Given the description of an element on the screen output the (x, y) to click on. 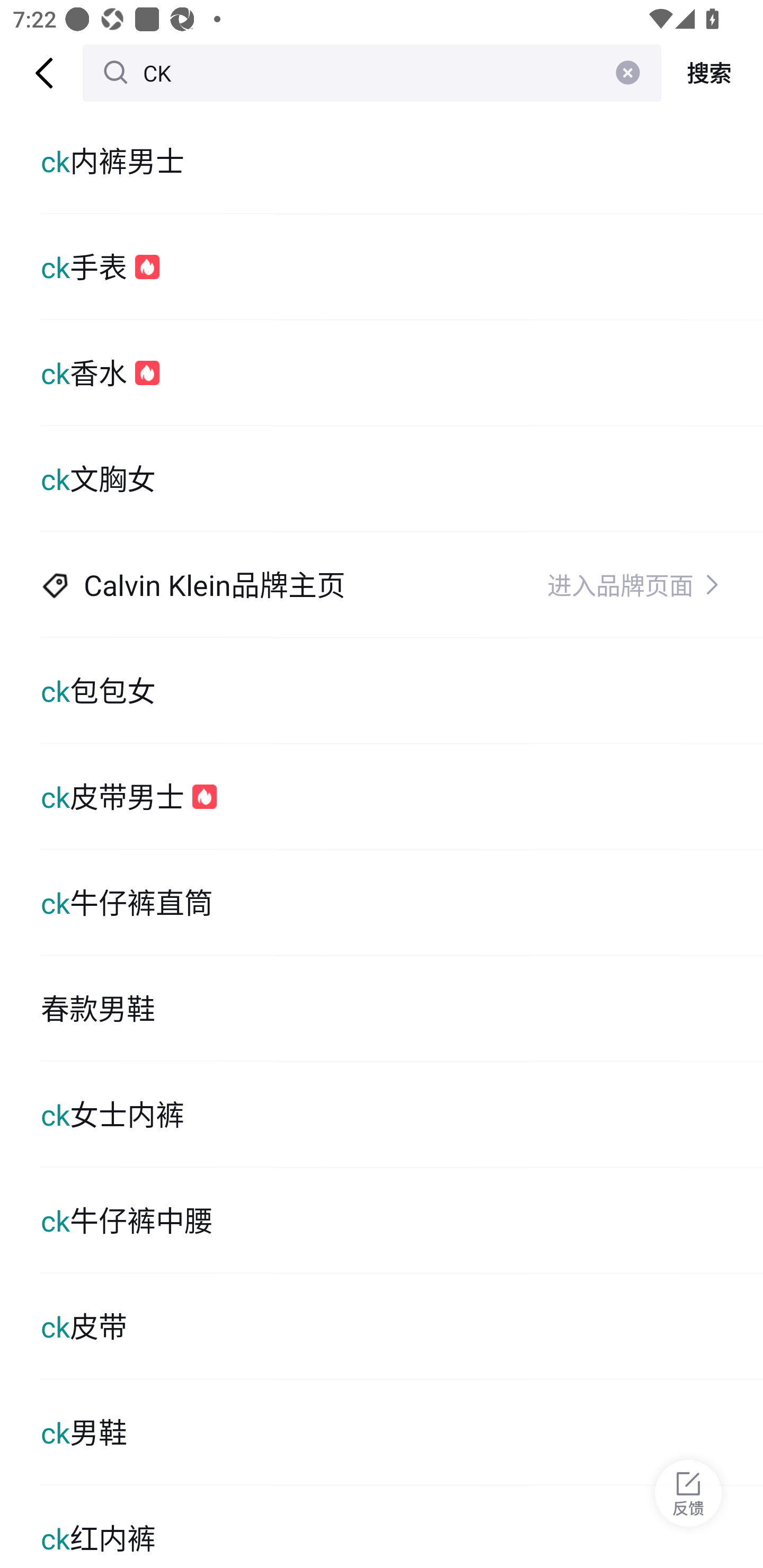
搜索 (712, 72)
CK (371, 72)
ck内裤男士 (401, 160)
ck手表 (401, 266)
ck香水 (401, 372)
ck文胸女 (401, 478)
Calvin Klein品牌主页 进入品牌页面  (401, 584)
ck包包女 (401, 690)
ck皮带男士 (401, 796)
ck牛仔裤直筒 (401, 901)
春款男鞋 (401, 1007)
ck女士内裤 (401, 1114)
ck牛仔裤中腰 (401, 1220)
ck皮带 (401, 1326)
ck男鞋 (401, 1431)
ck红内裤 (401, 1526)
